Given the description of an element on the screen output the (x, y) to click on. 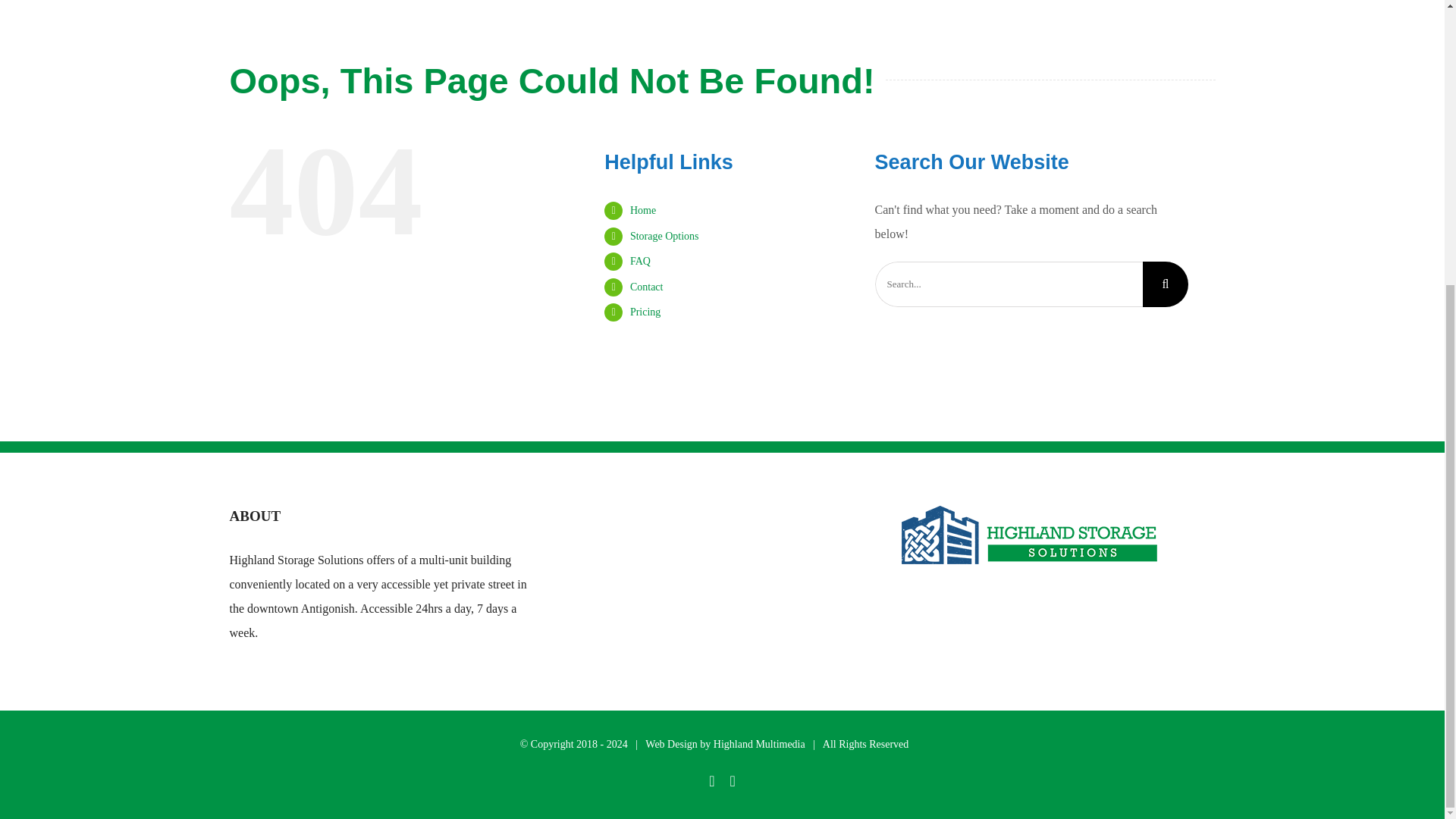
Highland Multimedia (759, 744)
FAQ (640, 260)
Contact (646, 286)
Pricing (645, 311)
Home (643, 210)
Storage Options (664, 235)
